Given the description of an element on the screen output the (x, y) to click on. 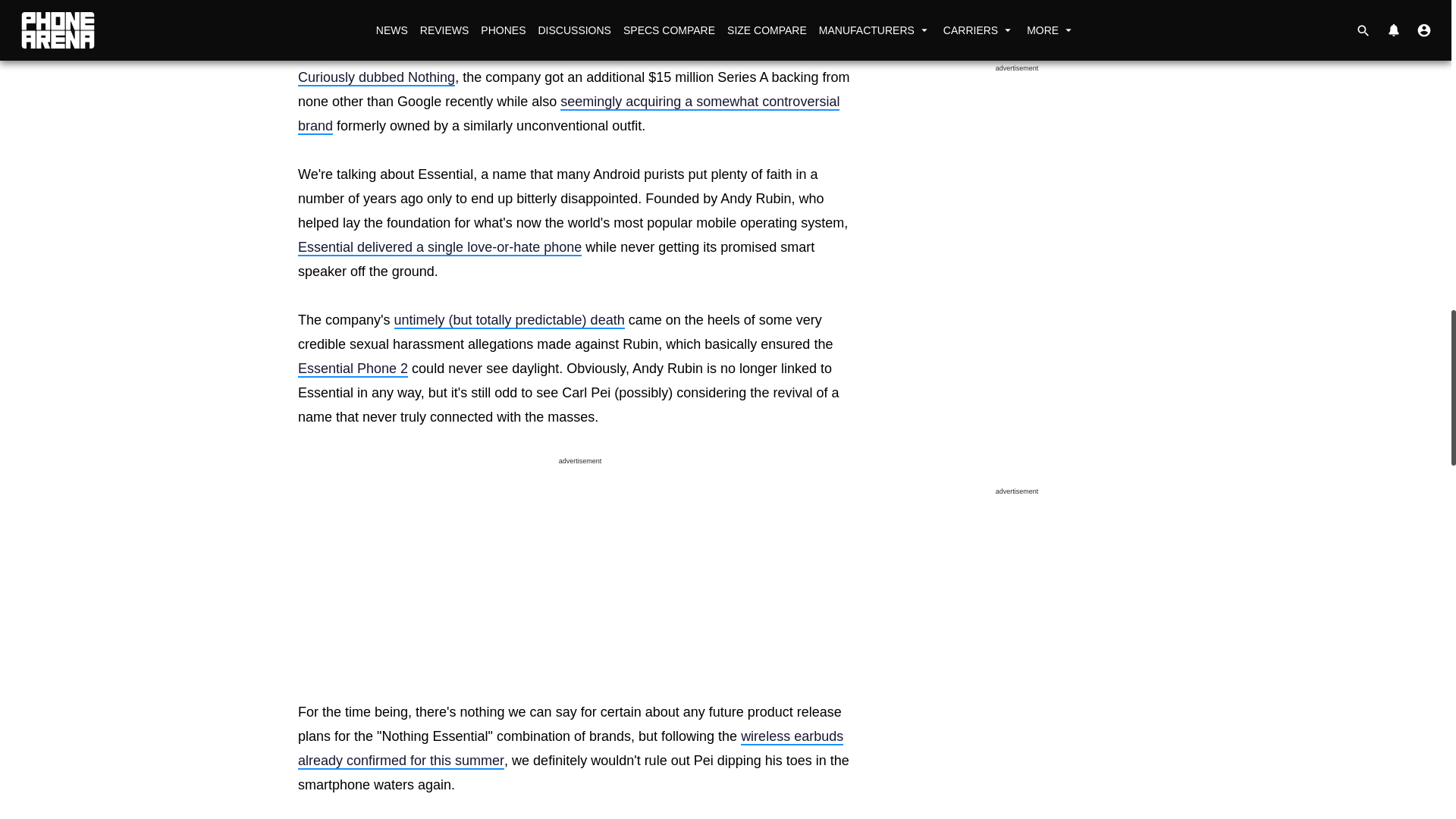
Essential Phone Review (439, 247)
